Given the description of an element on the screen output the (x, y) to click on. 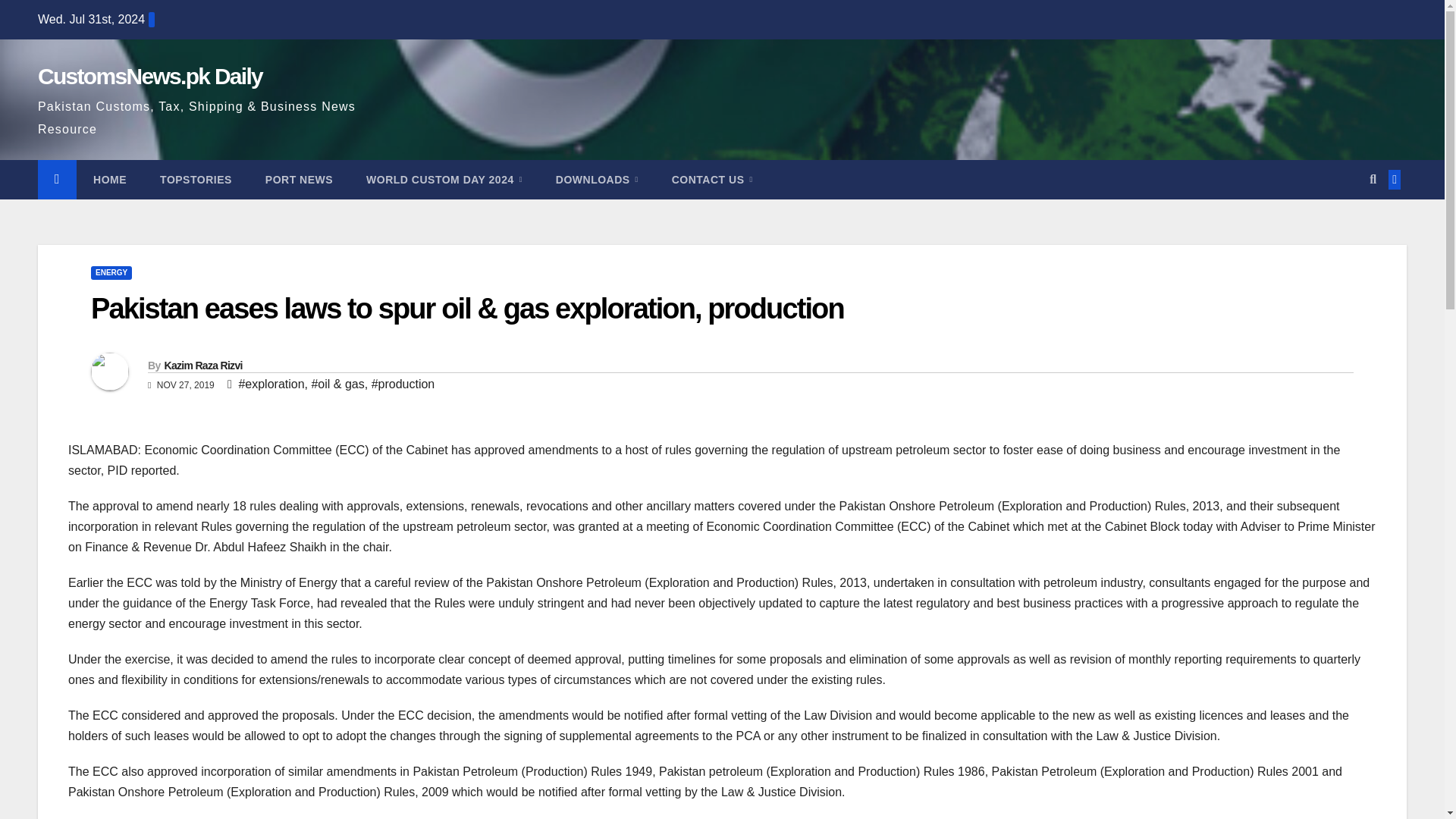
CustomsNews.pk Daily (149, 75)
Port News (298, 179)
PORT NEWS (298, 179)
Home (109, 179)
DOWNLOADS (596, 179)
World Custom Day 2024 (443, 179)
WORLD CUSTOM DAY 2024 (443, 179)
TopStories (195, 179)
TOPSTORIES (195, 179)
HOME (109, 179)
